Given the description of an element on the screen output the (x, y) to click on. 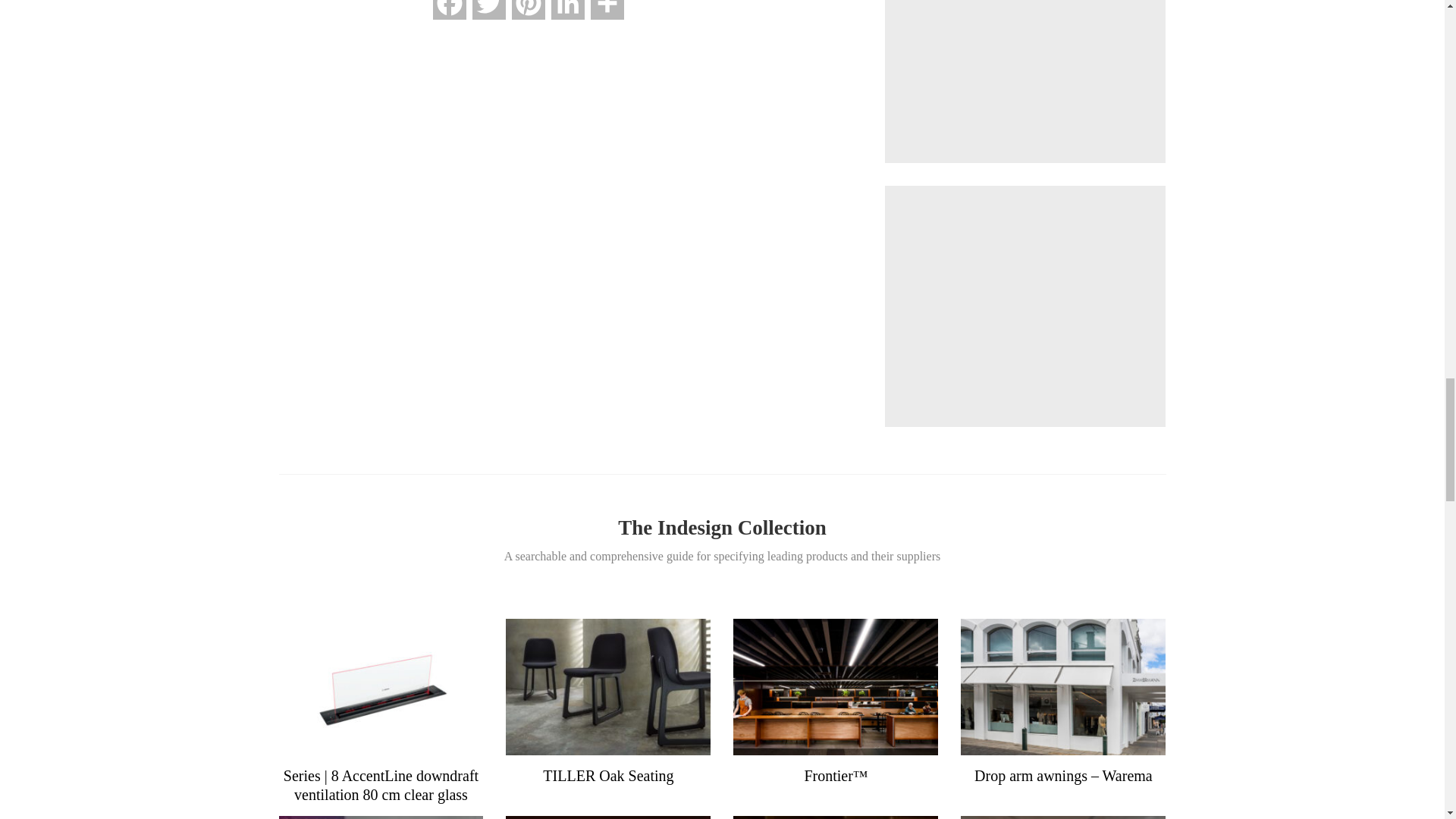
Pinterest (528, 16)
Twitter (488, 16)
LinkedIn (568, 16)
Facebook (448, 16)
